Given the description of an element on the screen output the (x, y) to click on. 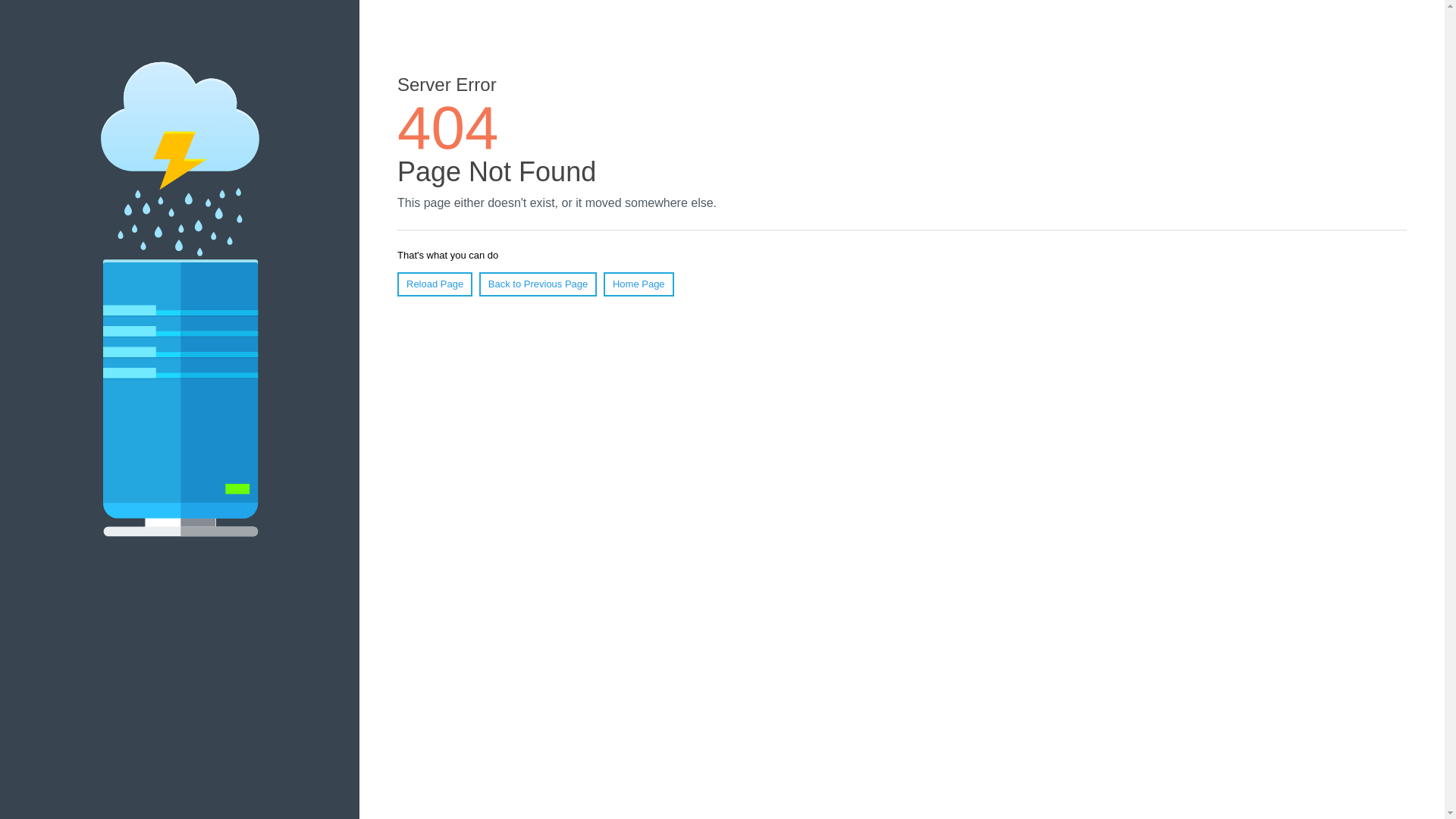
Home Page Element type: text (638, 284)
Reload Page Element type: text (434, 284)
Back to Previous Page Element type: text (538, 284)
